Given the description of an element on the screen output the (x, y) to click on. 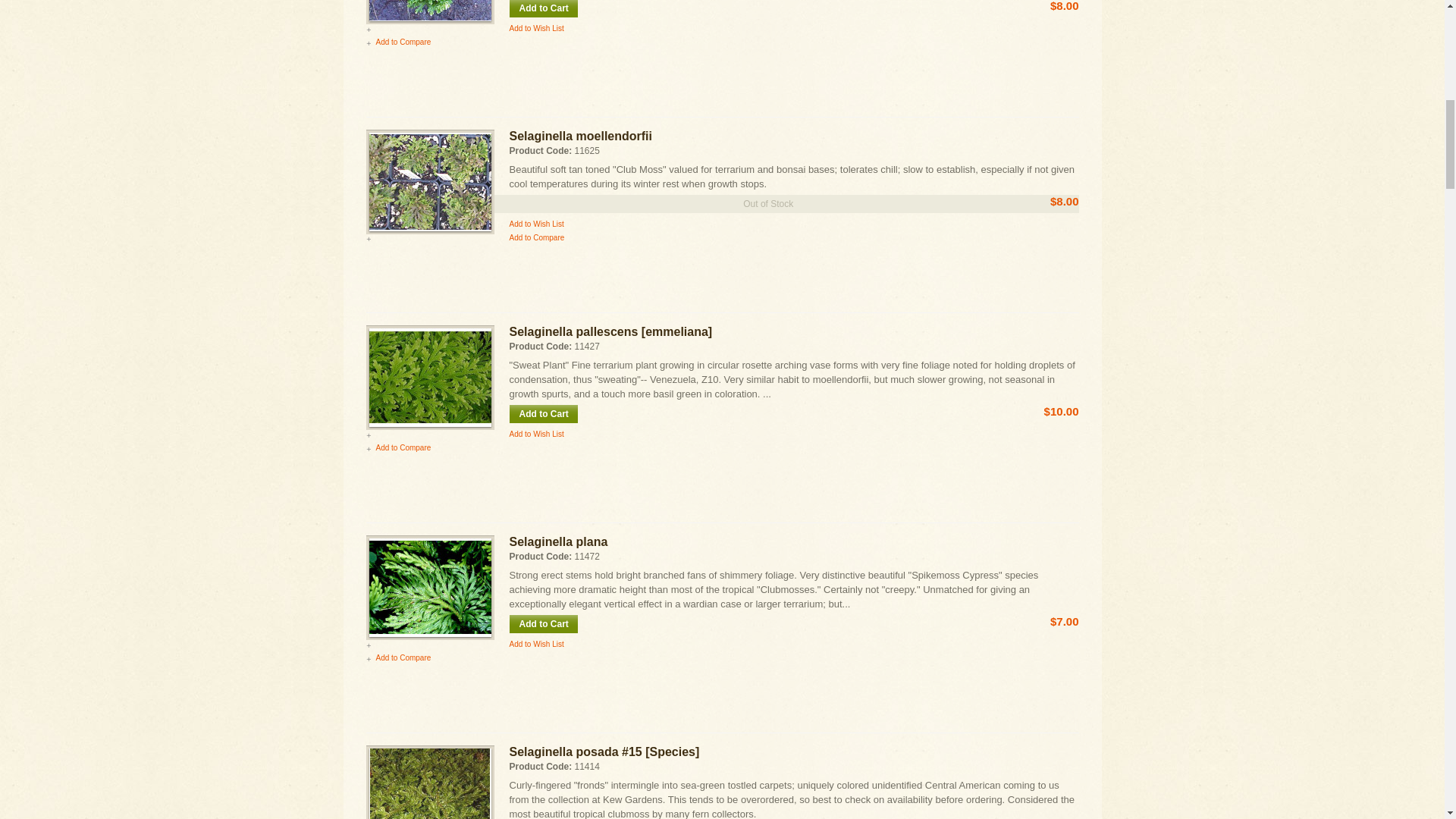
Selaginella plana (429, 587)
Selaginella martensii Frosty (429, 10)
Selaginella moellendorfii  (429, 181)
